Given the description of an element on the screen output the (x, y) to click on. 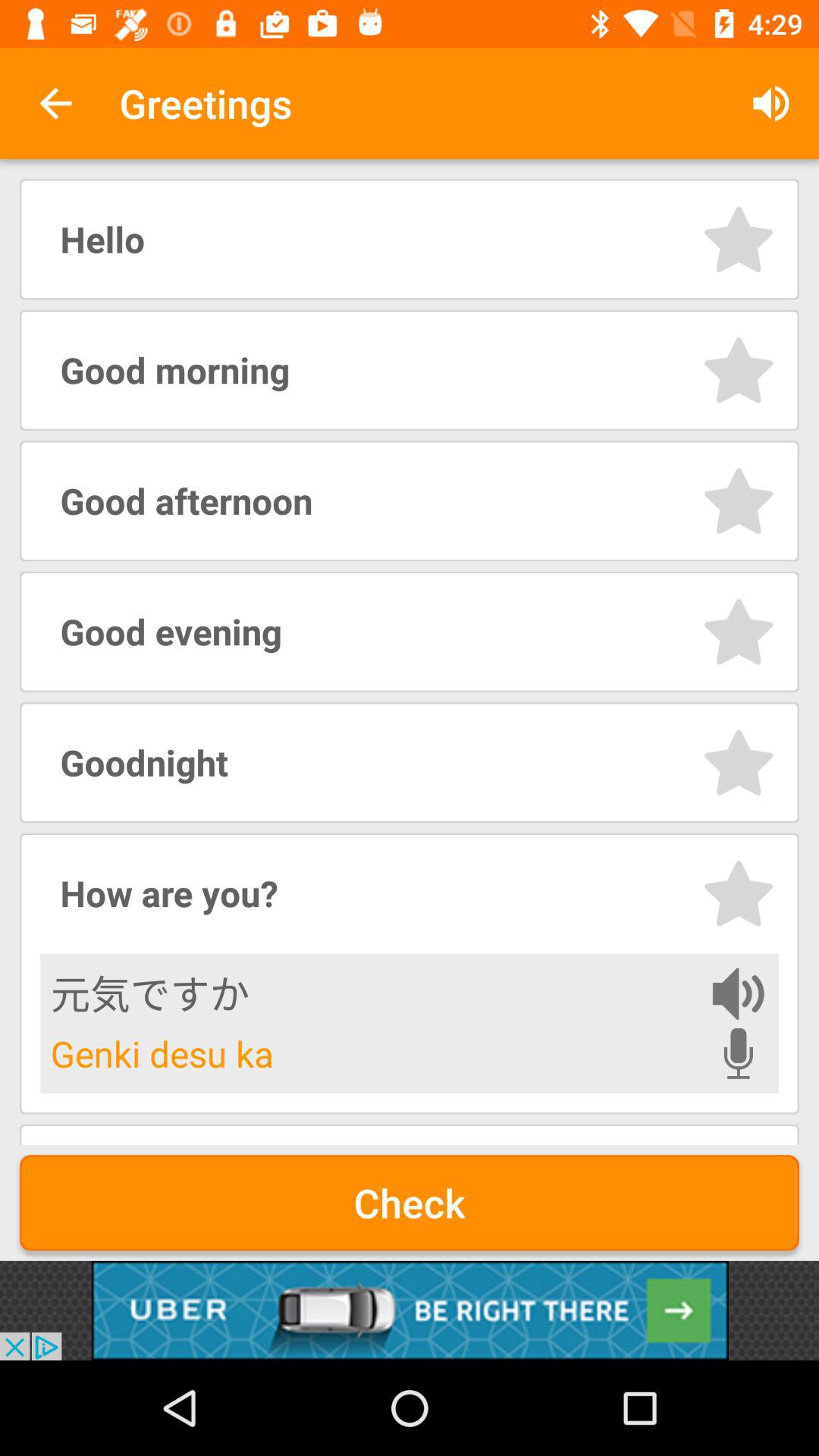
make favorite (738, 239)
